Given the description of an element on the screen output the (x, y) to click on. 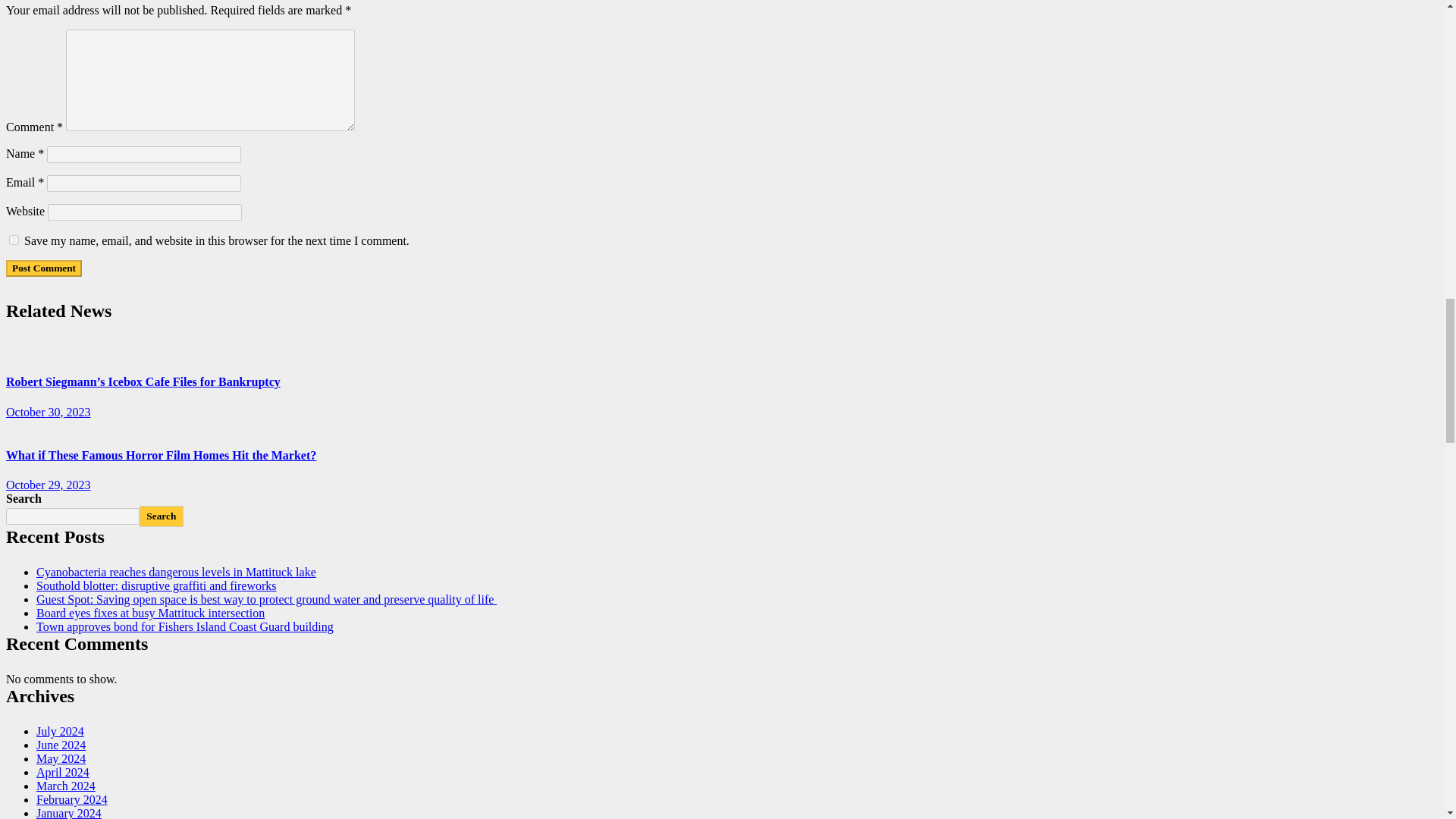
Post Comment (43, 268)
yes (13, 239)
Post Comment (43, 268)
